Given the description of an element on the screen output the (x, y) to click on. 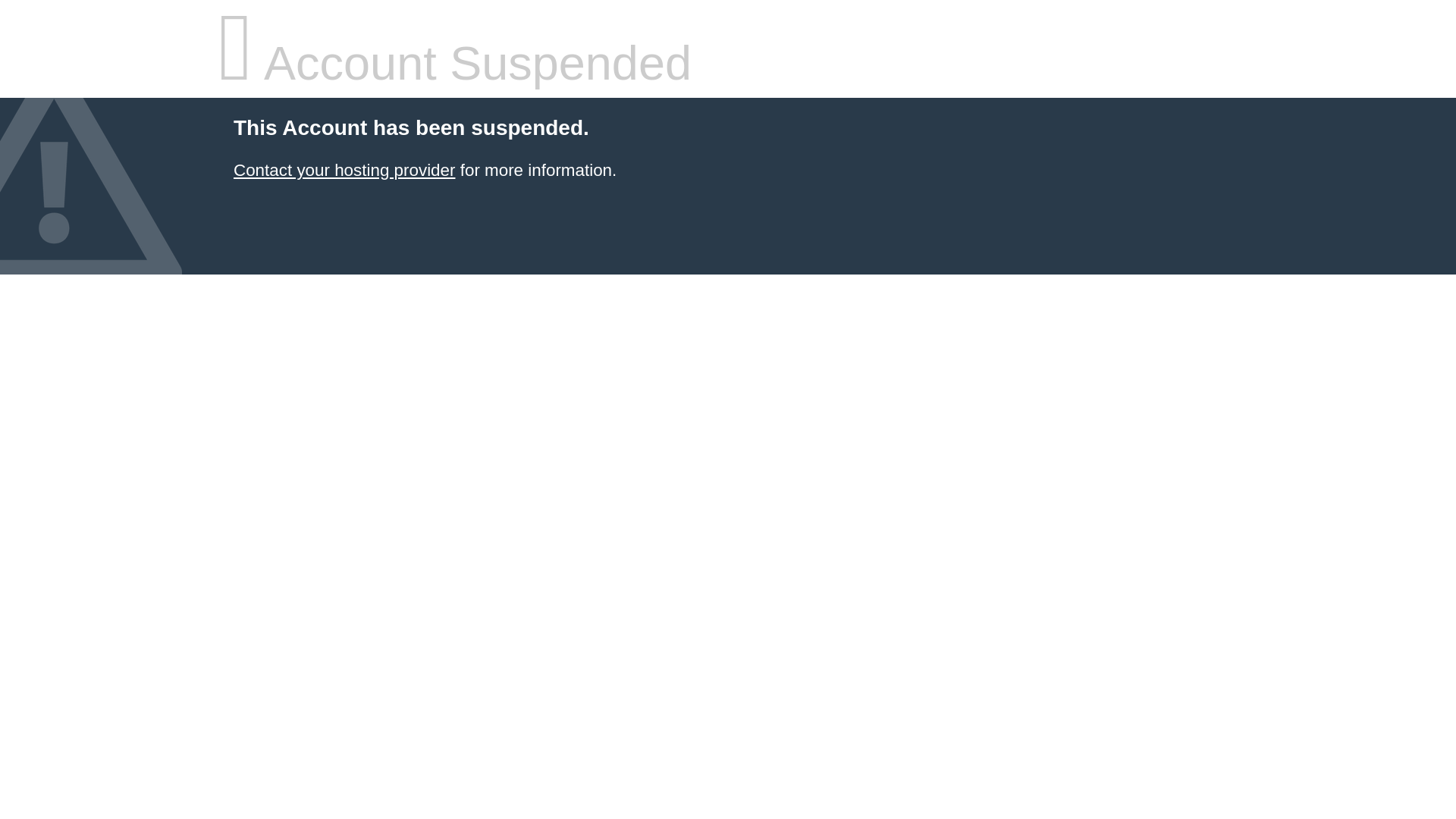
Contact your hosting provider (343, 169)
